Given the description of an element on the screen output the (x, y) to click on. 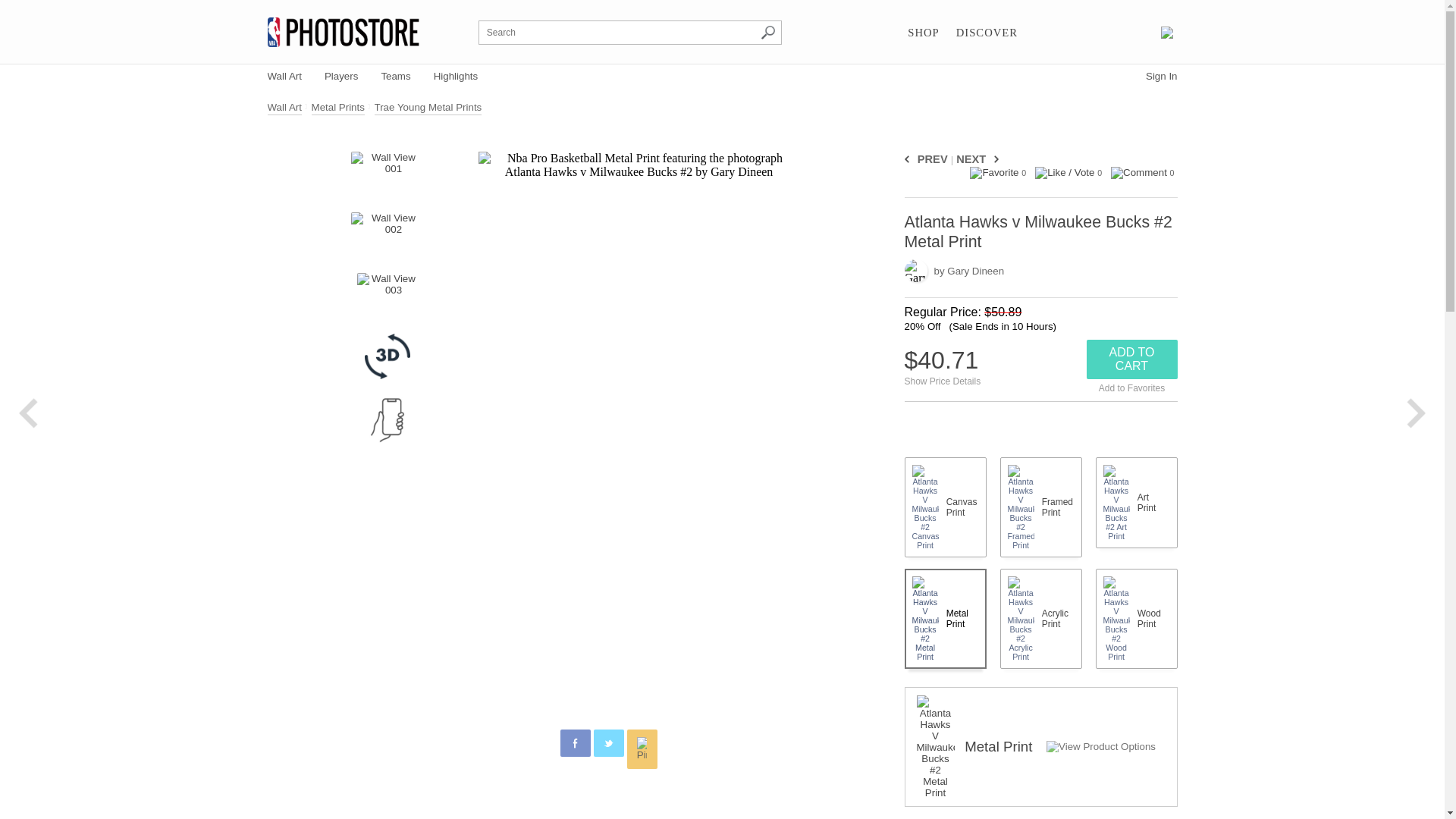
Share Product on Twitter (607, 742)
3D View (387, 356)
Wall View 003 (386, 295)
Share Product on Facebook (574, 742)
Wall View 001 (386, 174)
SHOP (922, 32)
Wall View 002 (386, 234)
Launch Mobile App (387, 420)
NBA Photo Store (342, 31)
Facebook (575, 742)
